Given the description of an element on the screen output the (x, y) to click on. 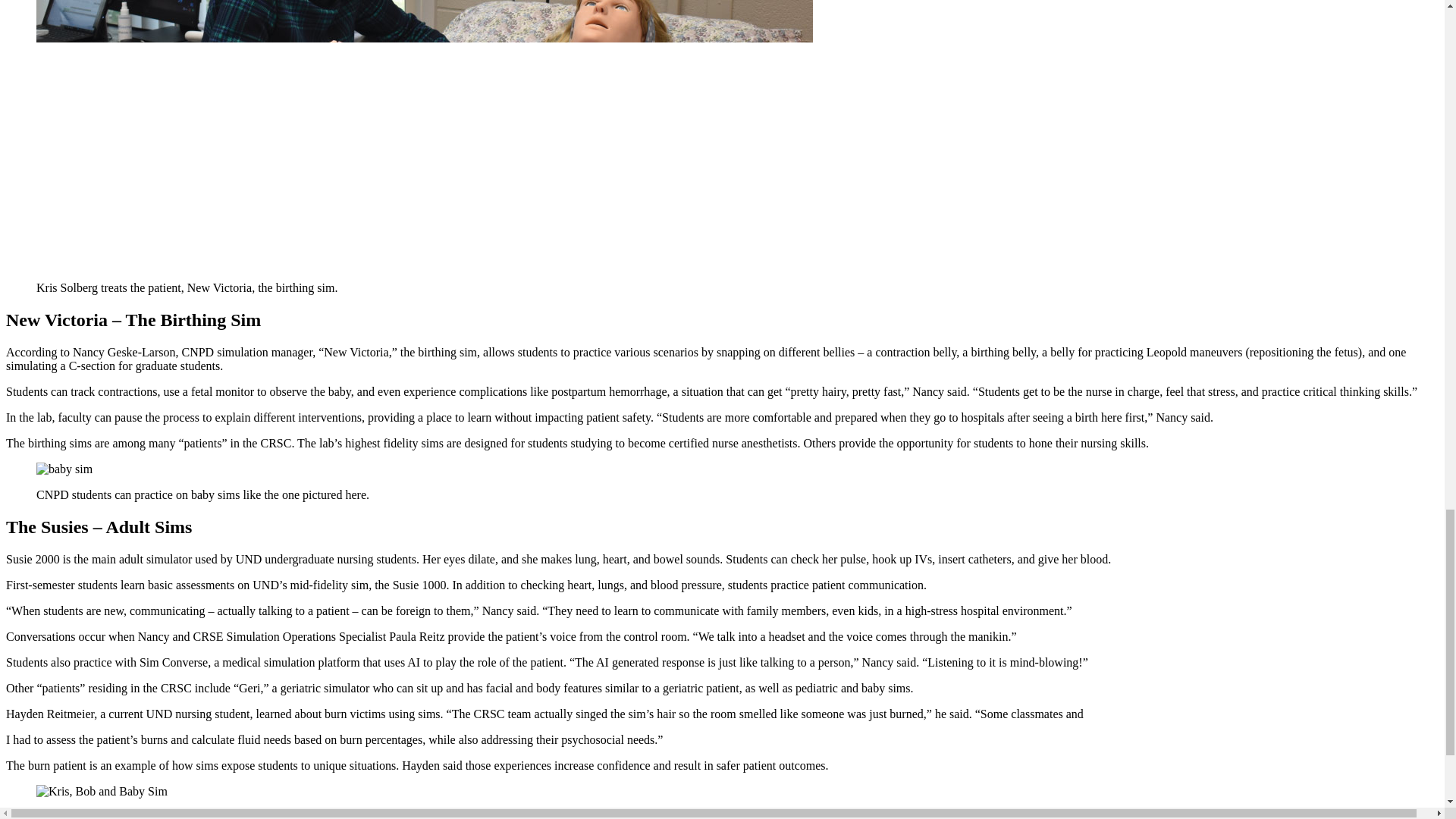
Kris, bob and baby sim (101, 790)
baby sim (64, 468)
